Given the description of an element on the screen output the (x, y) to click on. 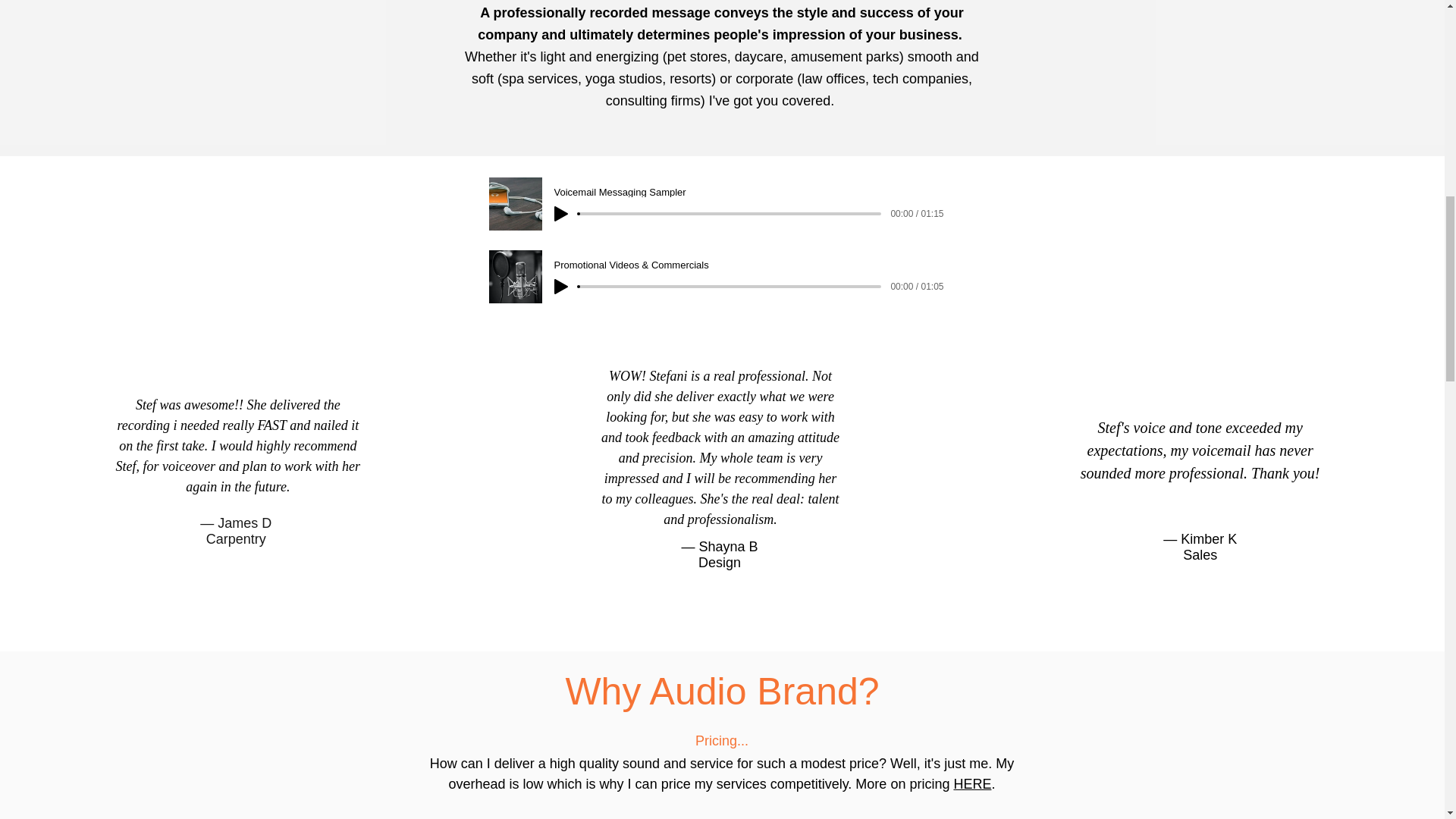
HERE (972, 783)
0 (729, 286)
 message (678, 12)
0 (729, 213)
